Given the description of an element on the screen output the (x, y) to click on. 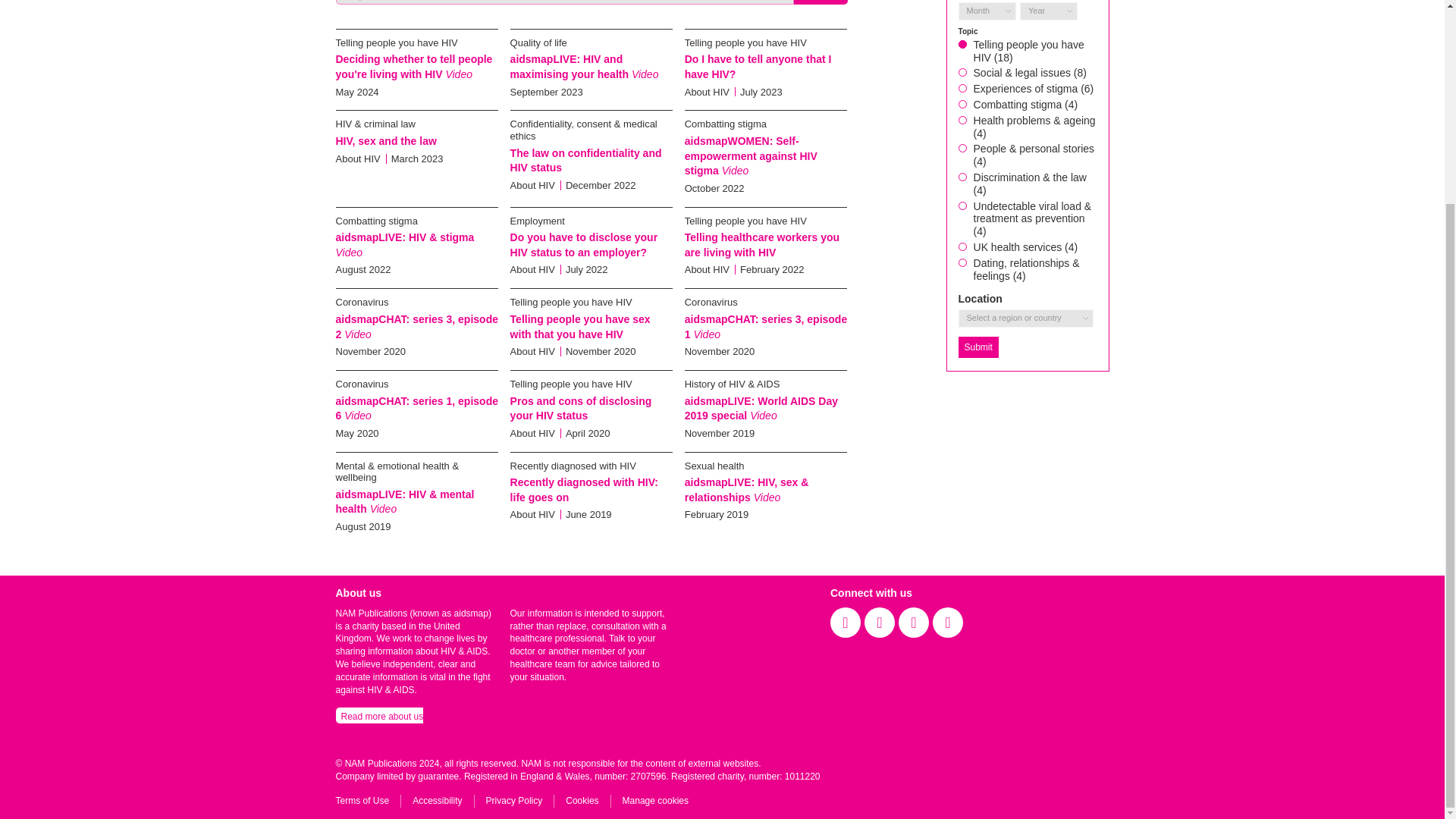
Telling people you have HIV (571, 383)
Do you have to disclose your HIV status to an employer? (584, 244)
Telling people you have HIV (745, 42)
Coronavirus (711, 301)
Search (820, 2)
Telling people you have HIV (395, 42)
Combatting stigma (375, 220)
aidsmapCHAT: series 3, episode 1 Video (765, 326)
Coronavirus (361, 301)
The law on confidentiality and HIV status (586, 160)
Deciding whether to tell people you're living with HIV Video (413, 66)
Quality of life (539, 42)
Telling healthcare workers you are living with HIV (762, 244)
Coronavirus (361, 383)
Search (820, 2)
